Given the description of an element on the screen output the (x, y) to click on. 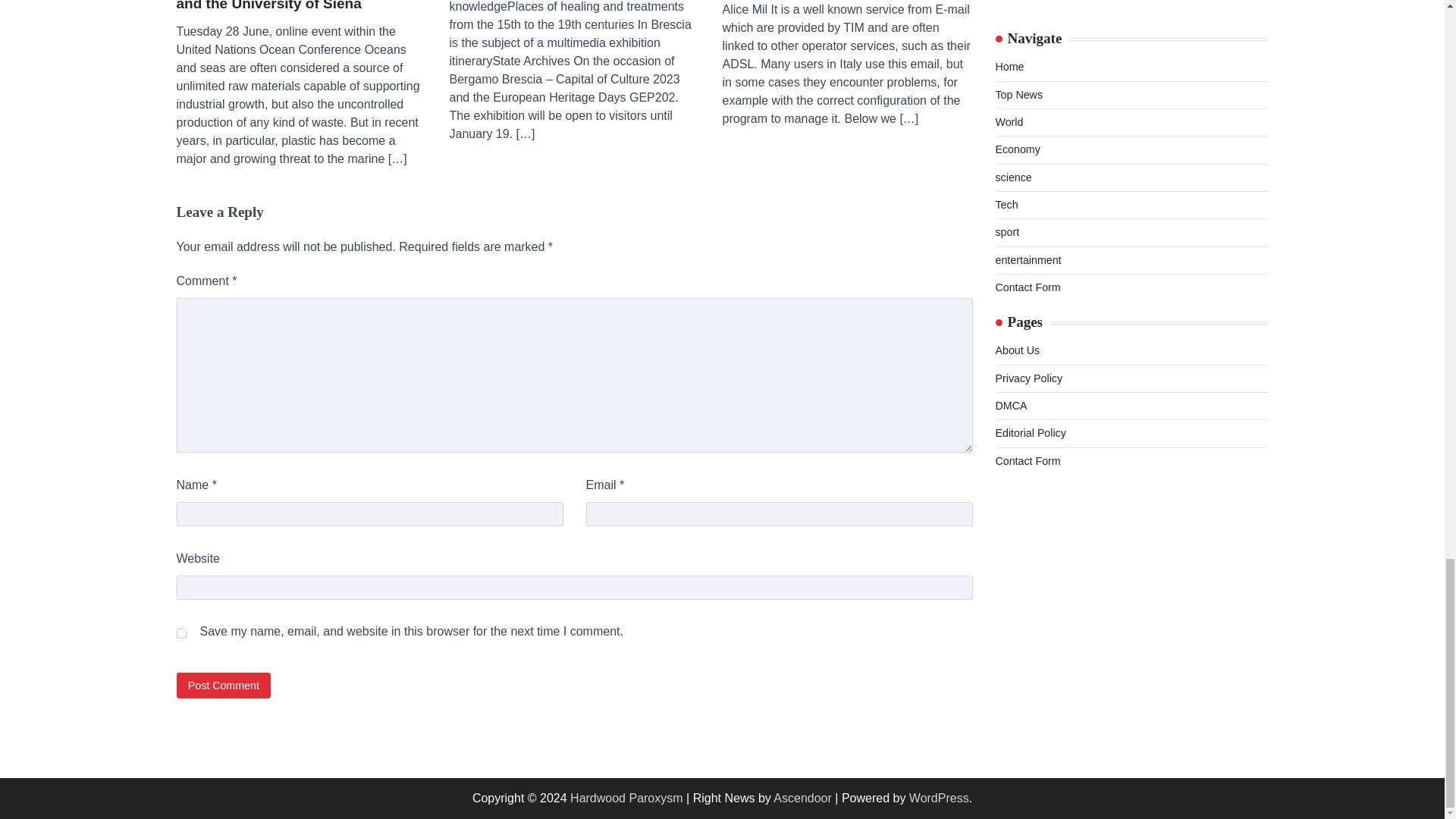
Post Comment (223, 684)
Post Comment (223, 684)
yes (181, 633)
